Given the description of an element on the screen output the (x, y) to click on. 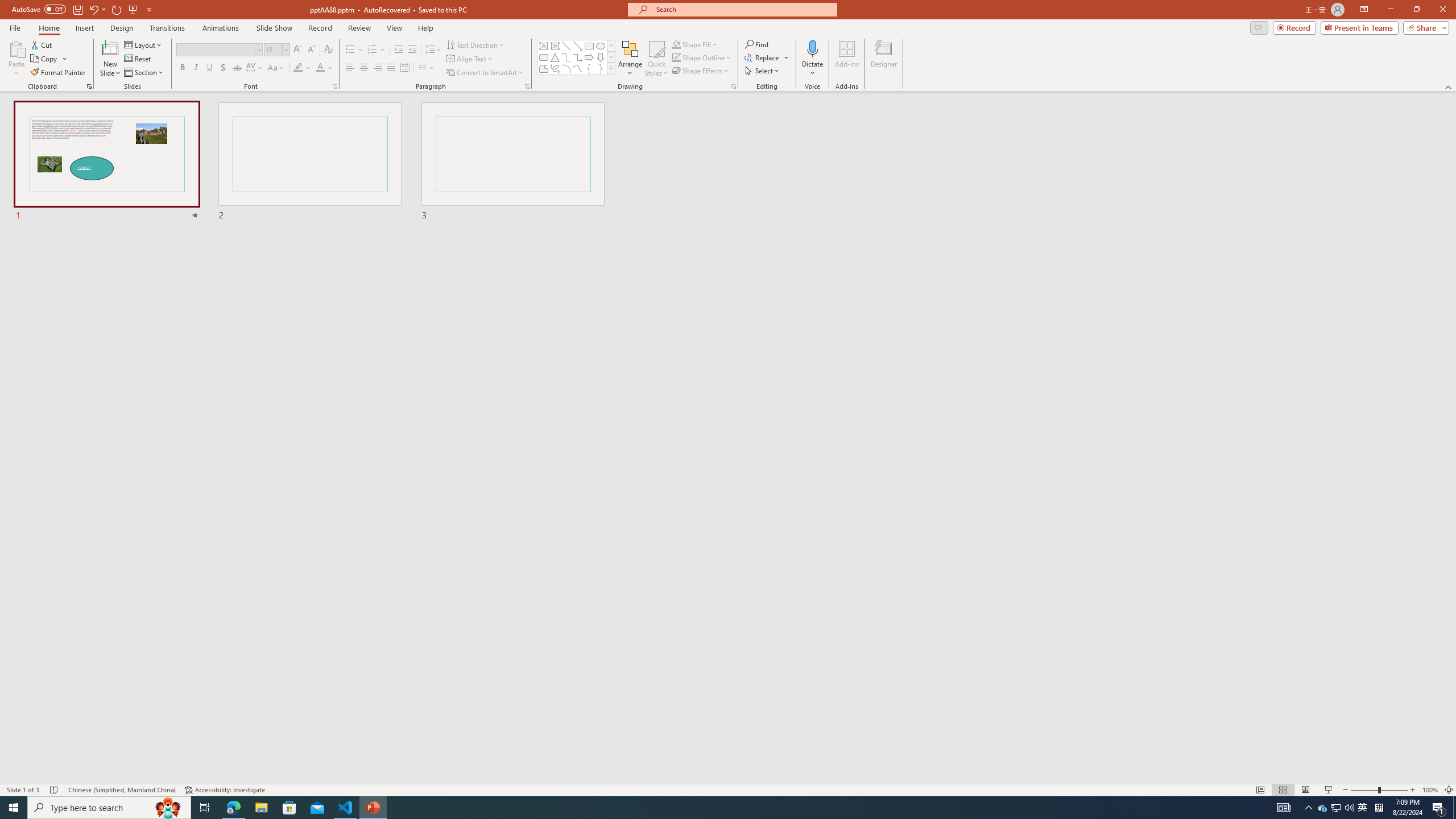
Shape Outline Teal, Accent 1 (675, 56)
Clear Formatting (327, 49)
Reset (138, 58)
Italic (195, 67)
